Given the description of an element on the screen output the (x, y) to click on. 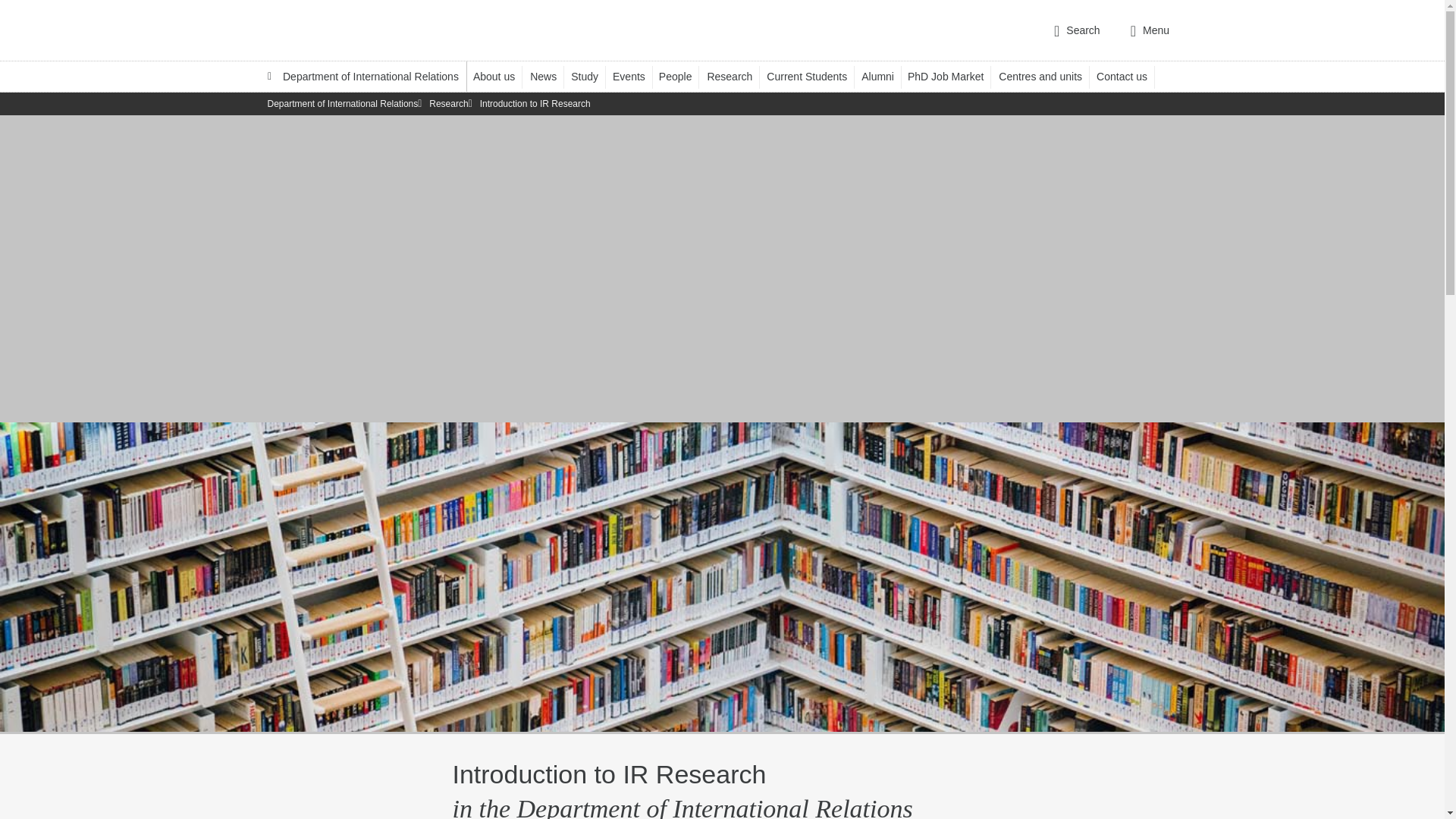
Study (591, 76)
People (682, 76)
Current Students (814, 76)
News (549, 76)
Centres and units (1047, 76)
News (549, 76)
PhD Job Market (952, 76)
People (682, 76)
Alumni (884, 76)
About us (501, 76)
